Given the description of an element on the screen output the (x, y) to click on. 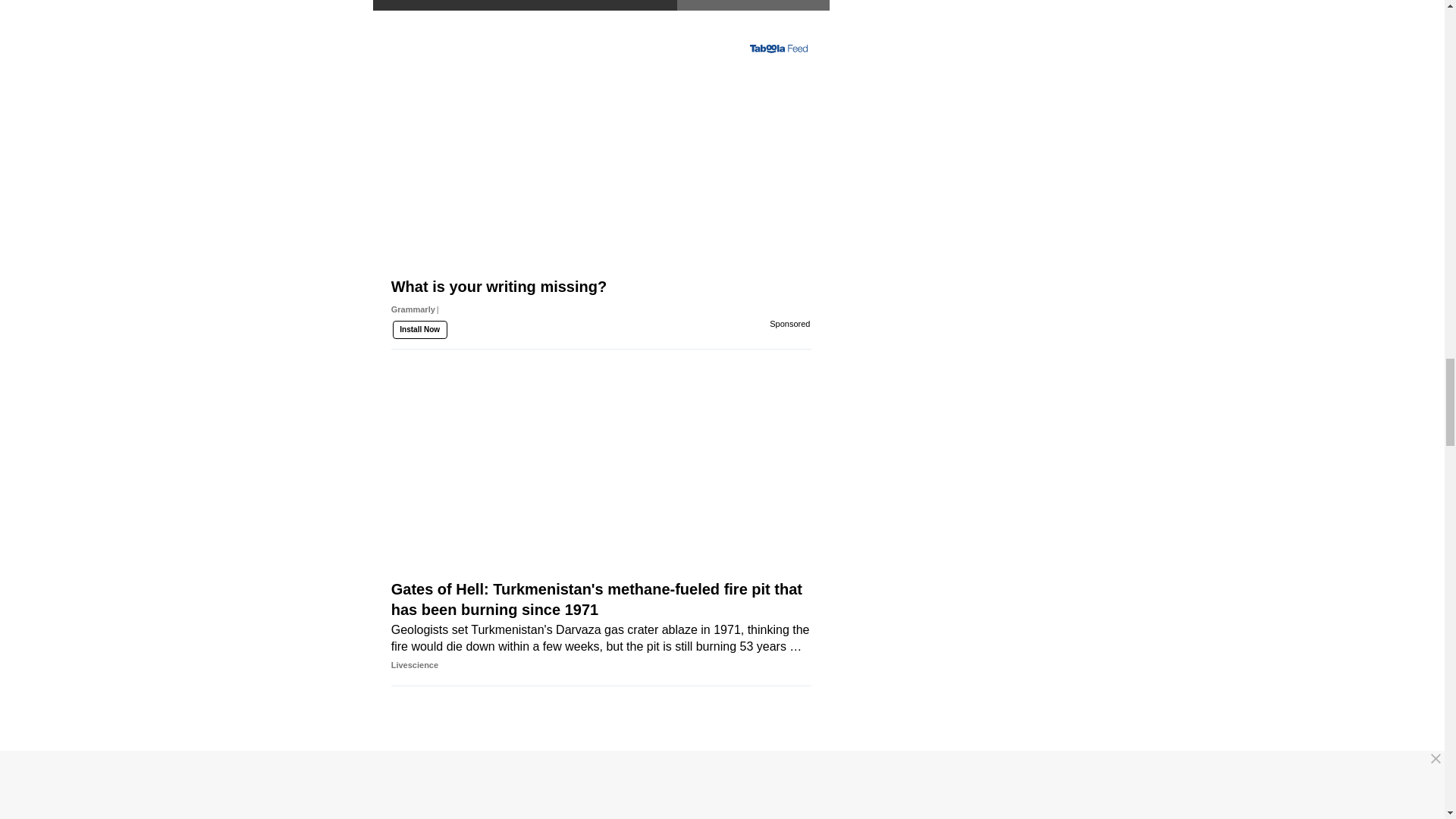
What is your writing missing? (600, 325)
What is your writing missing? (600, 190)
